Given the description of an element on the screen output the (x, y) to click on. 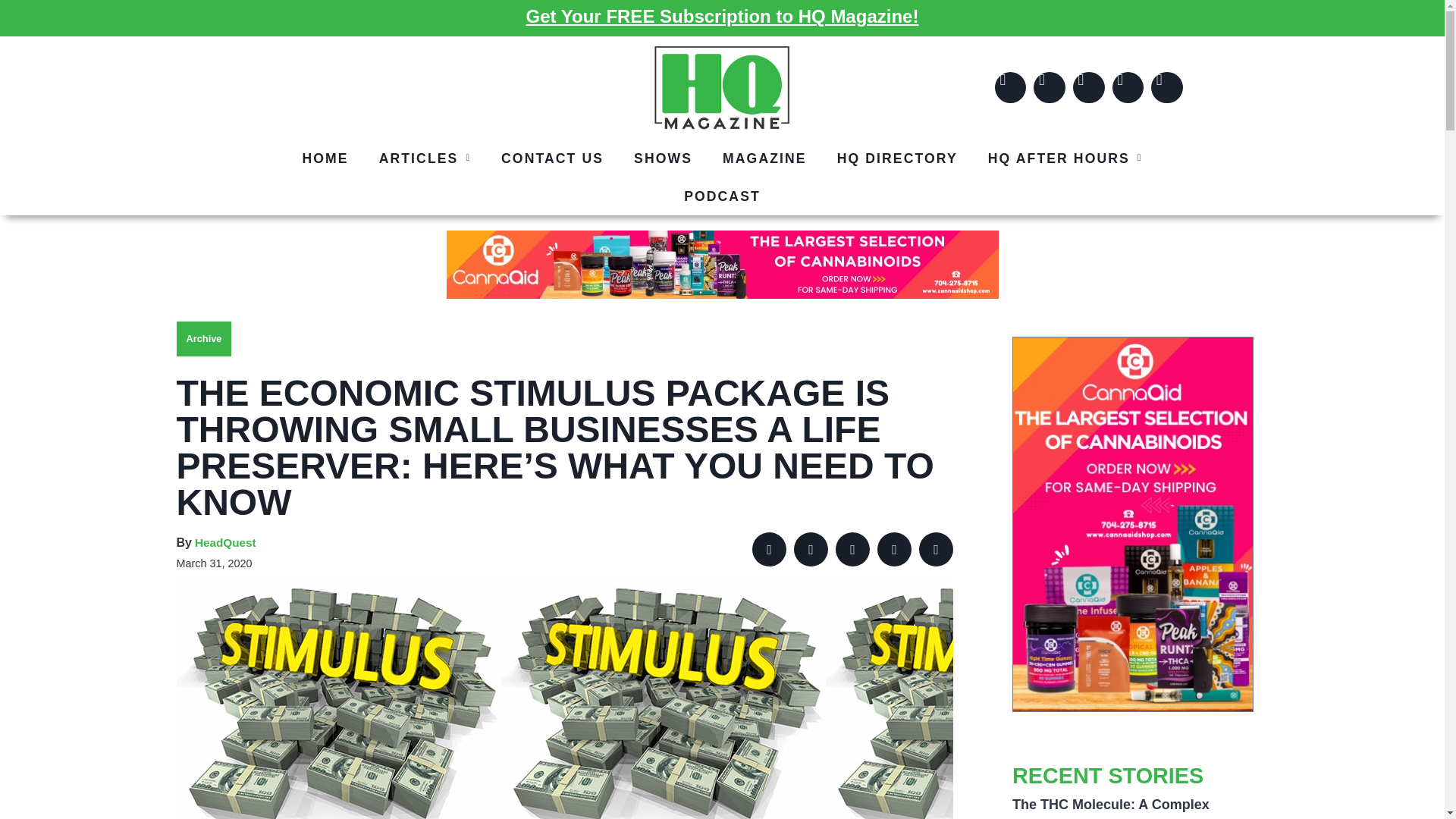
ARTICLES (425, 158)
HOME (324, 158)
Get Your FREE Subscription to HQ Magazine! (721, 15)
PODCAST (722, 196)
CONTACT US (552, 158)
MAGAZINE (764, 158)
HQ DIRECTORY (897, 158)
SHOWS (662, 158)
HQ AFTER HOURS (1064, 158)
